Given the description of an element on the screen output the (x, y) to click on. 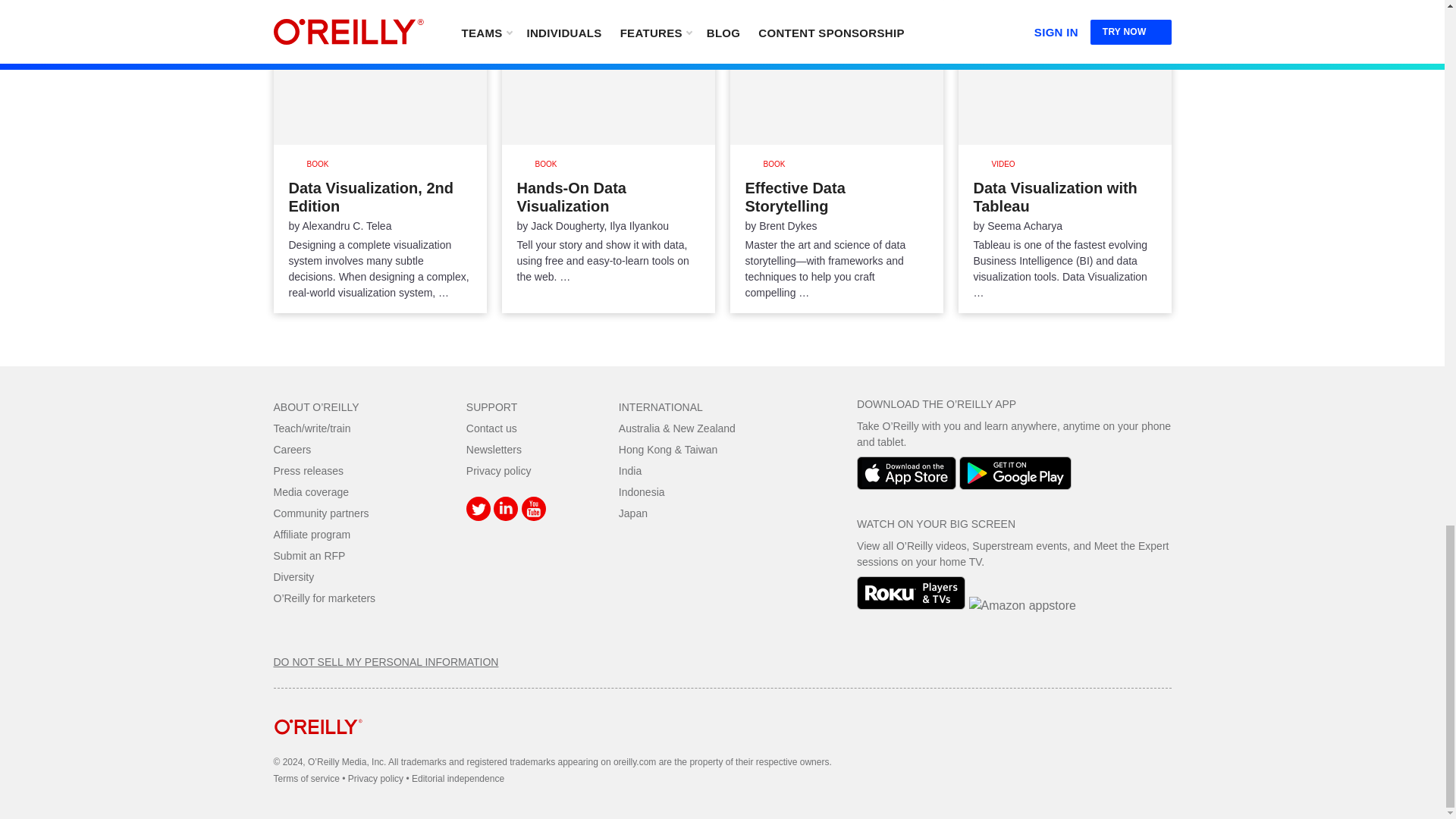
Careers (292, 449)
Community partners (320, 512)
home page (317, 745)
Press releases (308, 470)
Media coverage (311, 491)
